Given the description of an element on the screen output the (x, y) to click on. 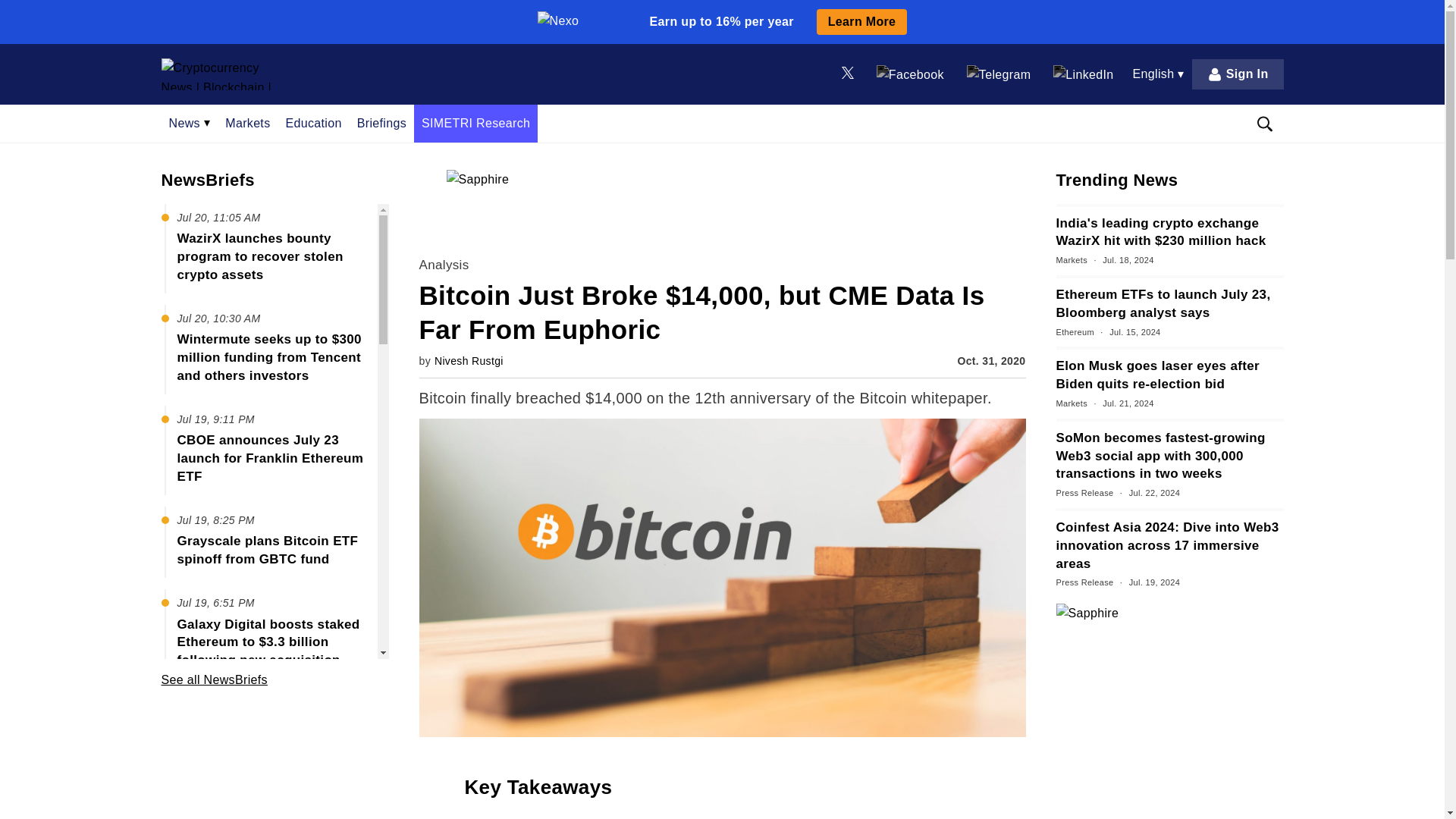
Sign In (1238, 73)
Sign In (1238, 73)
Learn More (861, 22)
News (188, 123)
